Given the description of an element on the screen output the (x, y) to click on. 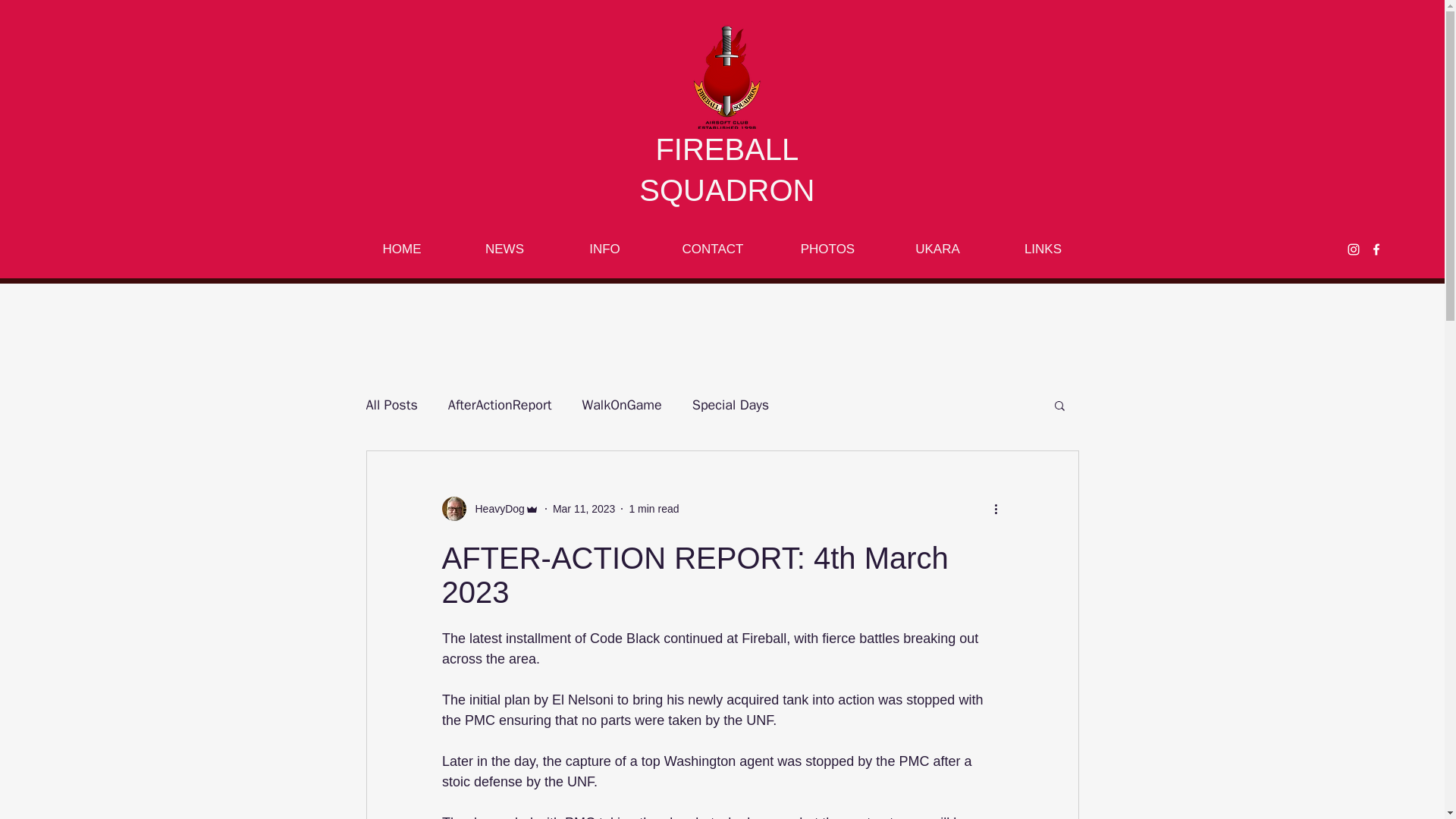
HeavyDog (494, 508)
UKARA (936, 249)
WalkOnGame (620, 404)
Special Days (730, 404)
INFO (603, 249)
FIREBALL SQUADRON (726, 169)
HOME (401, 249)
LINKS (1042, 249)
Mar 11, 2023 (584, 508)
AfterActionReport (499, 404)
